Given the description of an element on the screen output the (x, y) to click on. 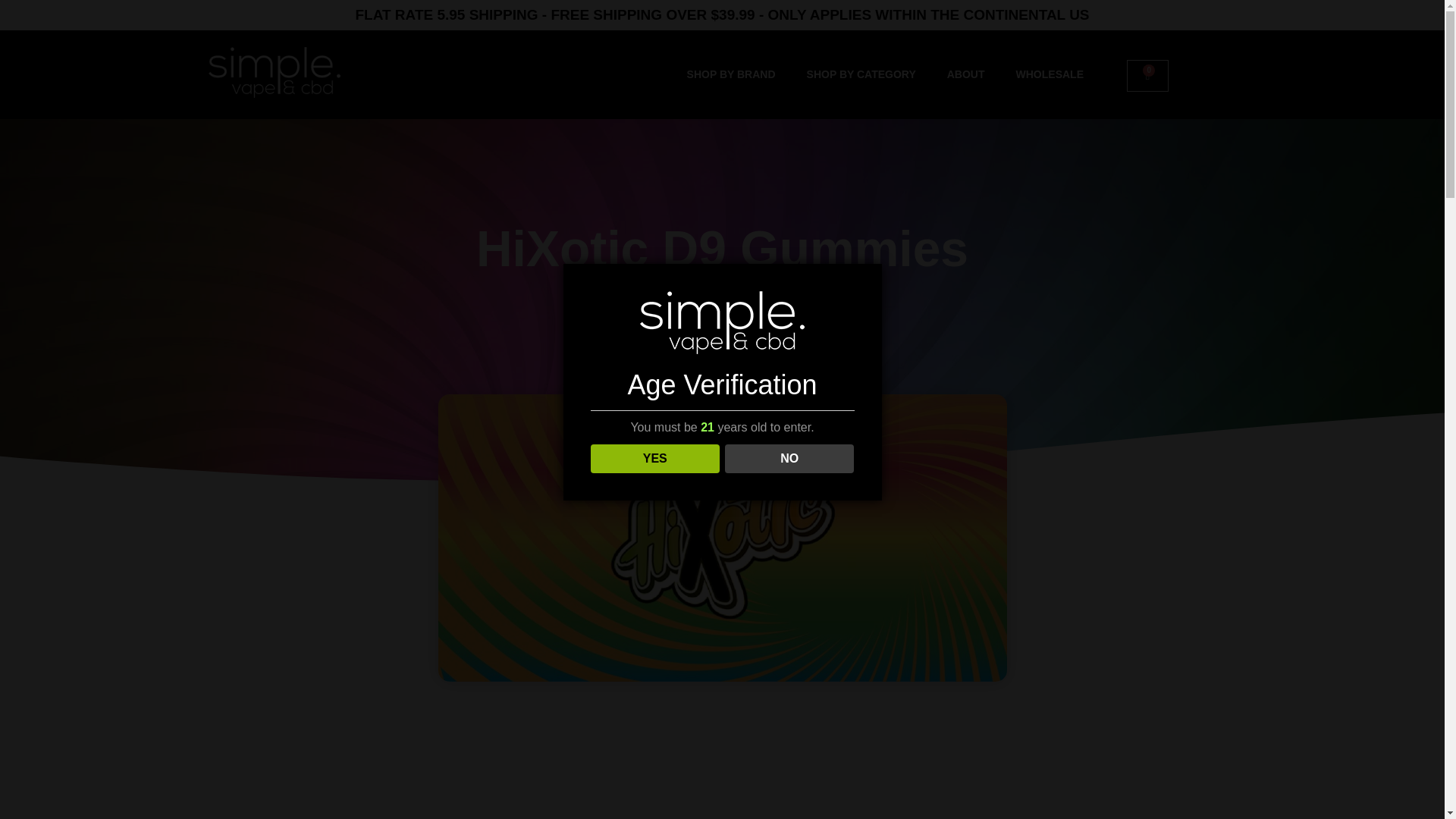
SHOP BY BRAND (731, 46)
SHOP BY CATEGORY (861, 74)
